Given the description of an element on the screen output the (x, y) to click on. 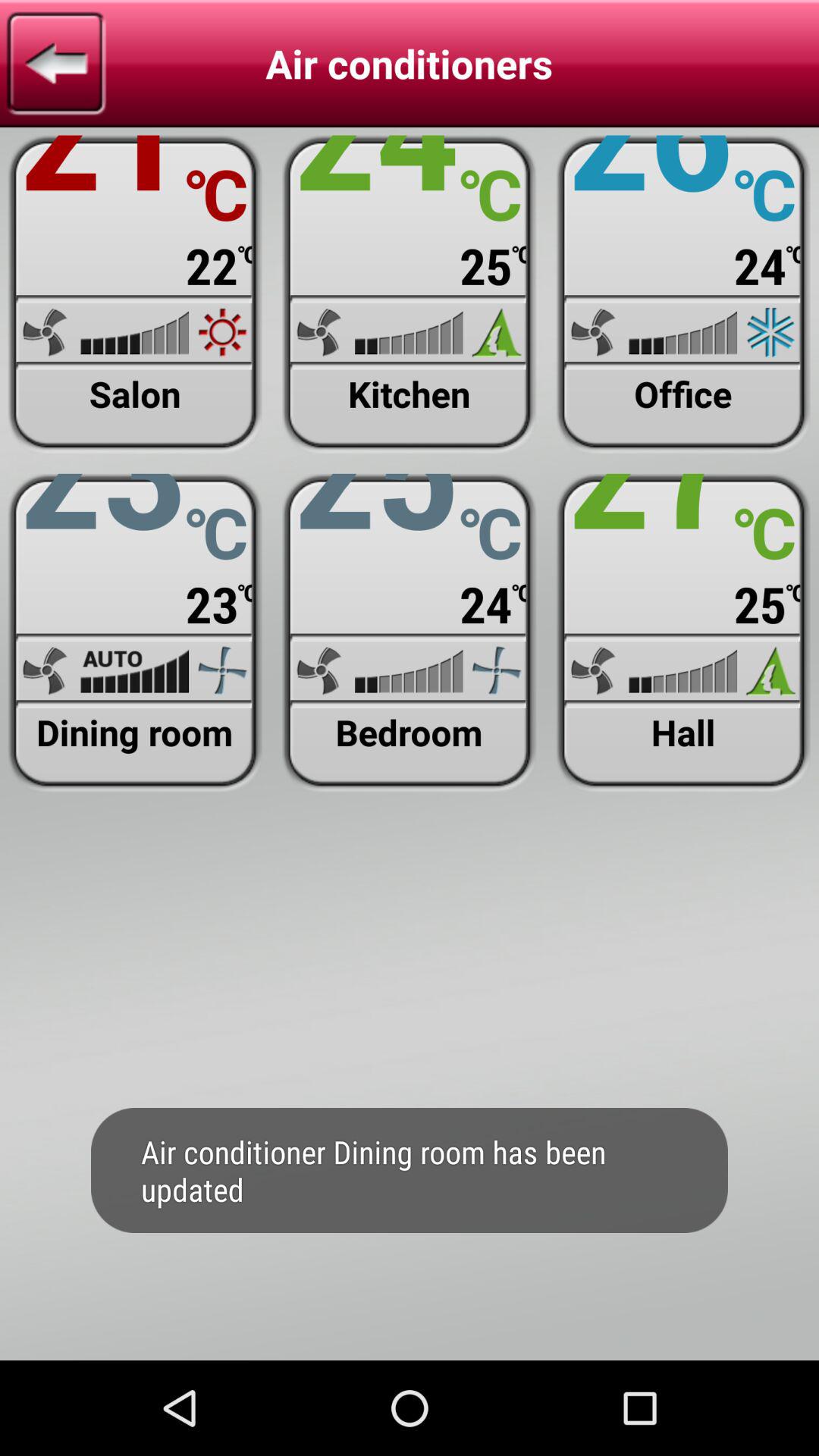
view area (409, 294)
